Given the description of an element on the screen output the (x, y) to click on. 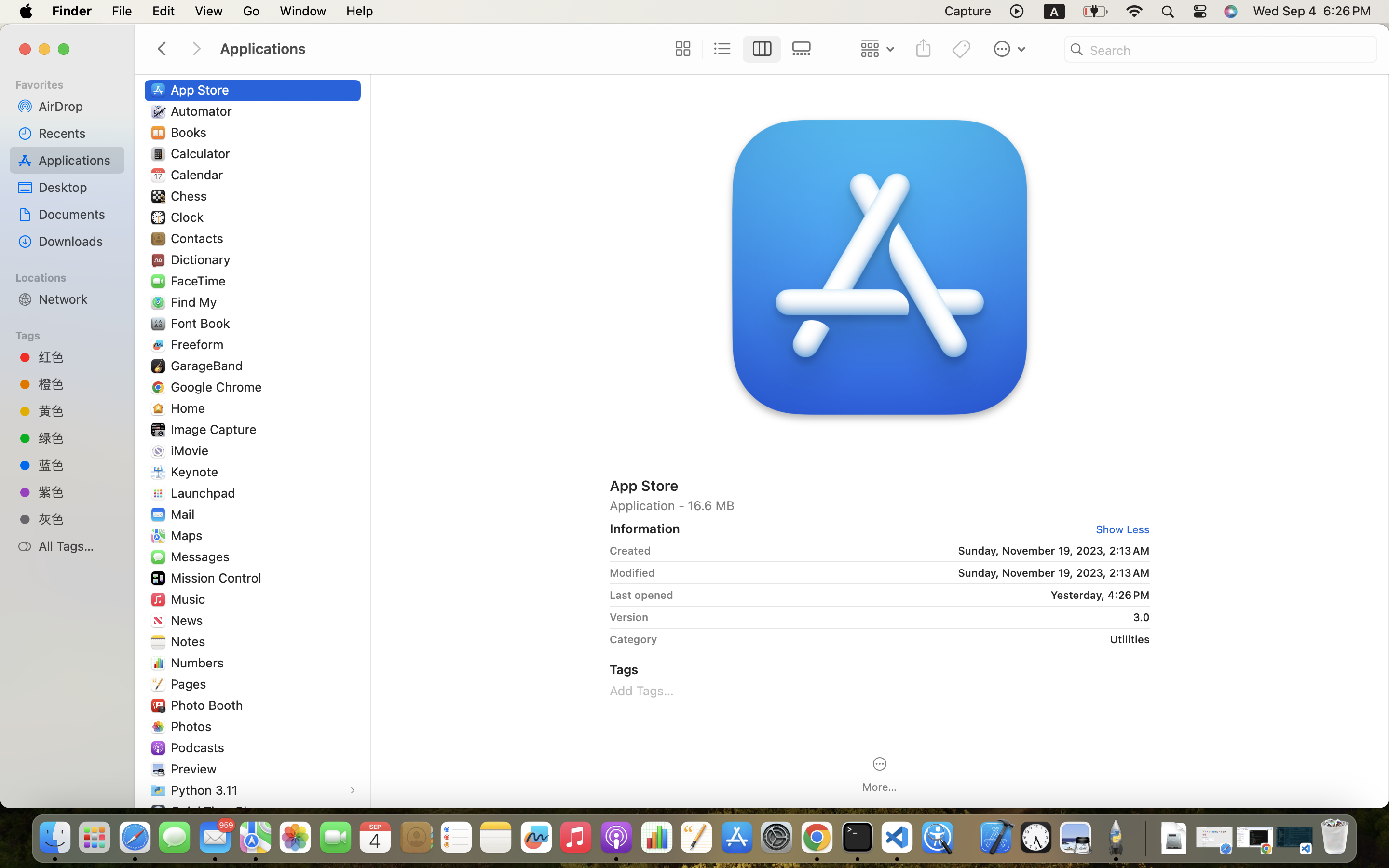
Photo Booth Element type: AXTextField (208, 704)
Version Element type: AXStaticText (628, 616)
News Element type: AXTextField (188, 619)
Last opened Element type: AXStaticText (641, 594)
紫色 Element type: AXStaticText (77, 491)
